Given the description of an element on the screen output the (x, y) to click on. 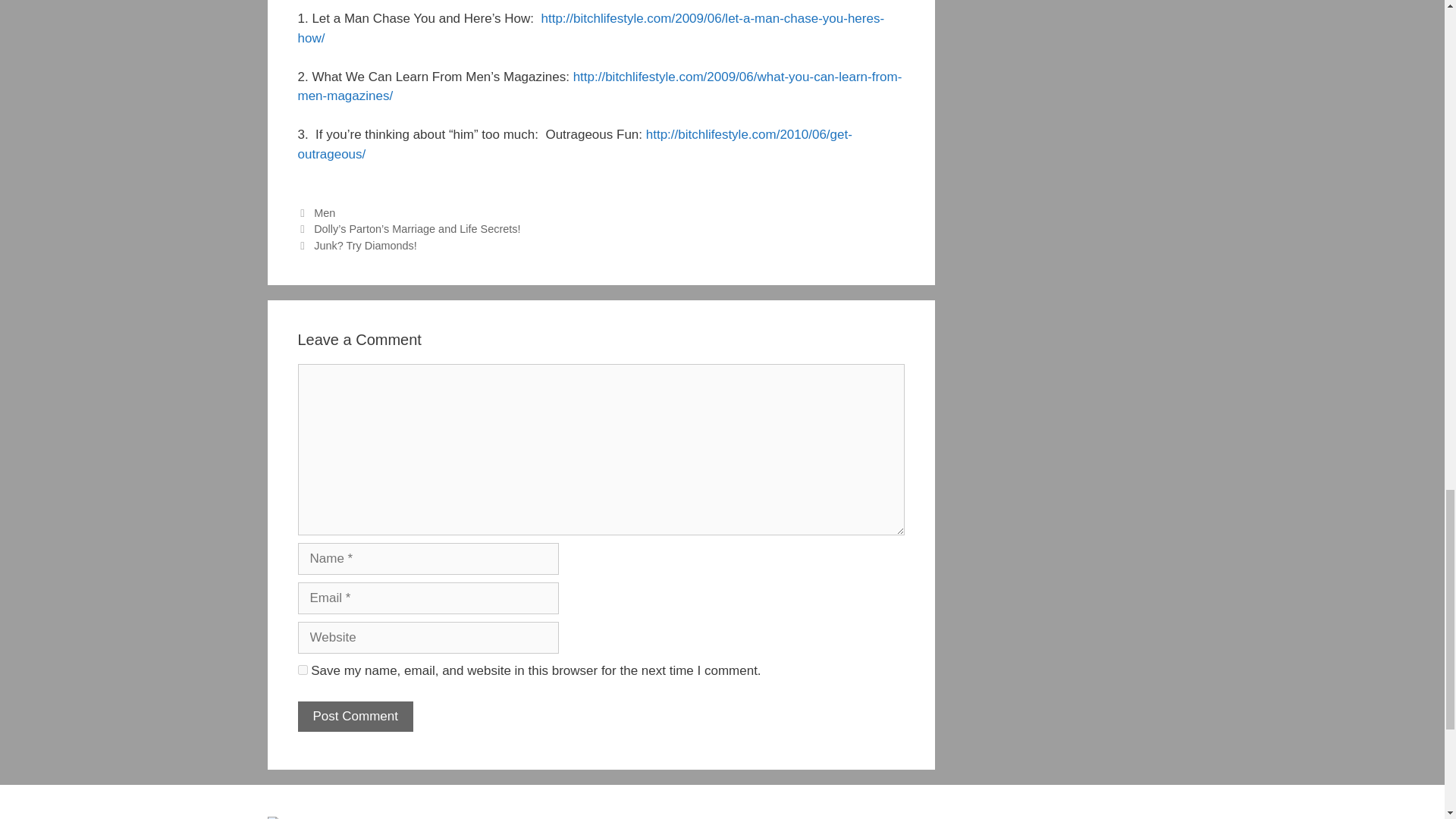
Post Comment (354, 716)
Next (356, 245)
Post Comment (354, 716)
Junk? Try Diamonds! (365, 245)
yes (302, 669)
Men (324, 213)
Previous (408, 228)
